Given the description of an element on the screen output the (x, y) to click on. 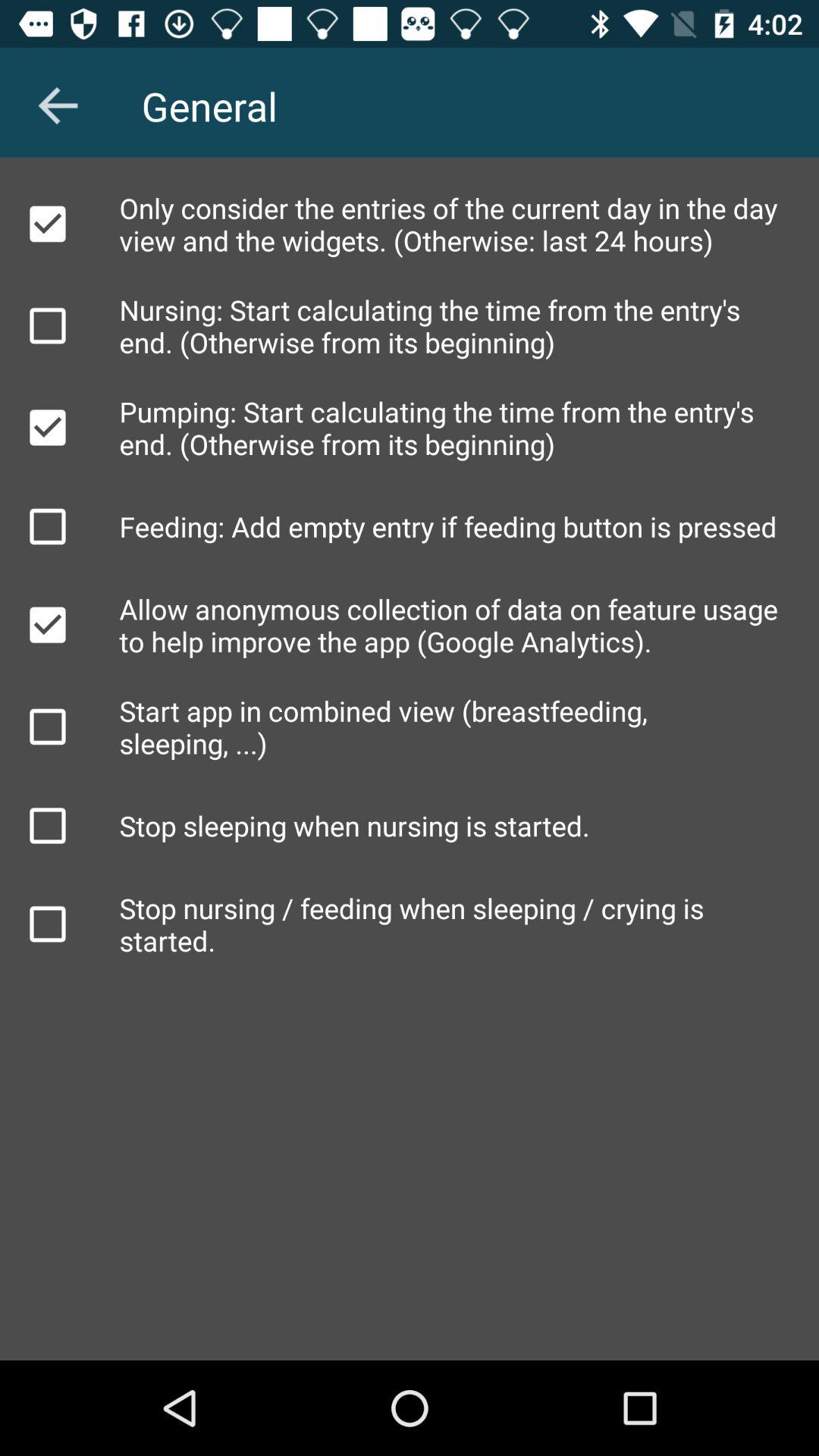
check box to allow anonymous collection of data (47, 624)
